Given the description of an element on the screen output the (x, y) to click on. 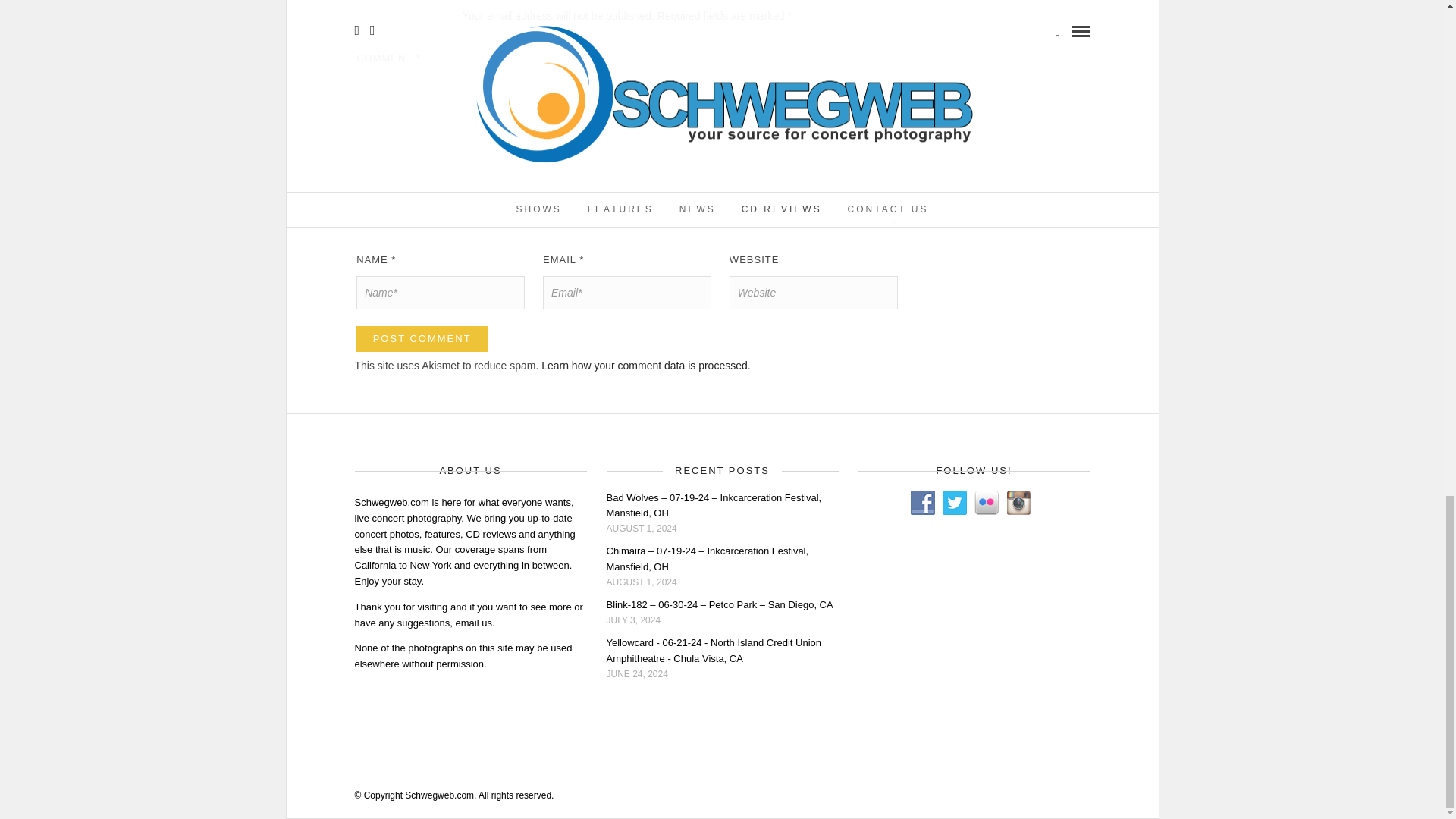
Post Comment (421, 338)
Follow Us on Twitter (954, 502)
Learn how your comment data is processed (644, 365)
Post Comment (421, 338)
Follow Us on Flickr (985, 502)
Follow Us on Facebook (922, 502)
Follow Us on Instagram (1017, 502)
